Given the description of an element on the screen output the (x, y) to click on. 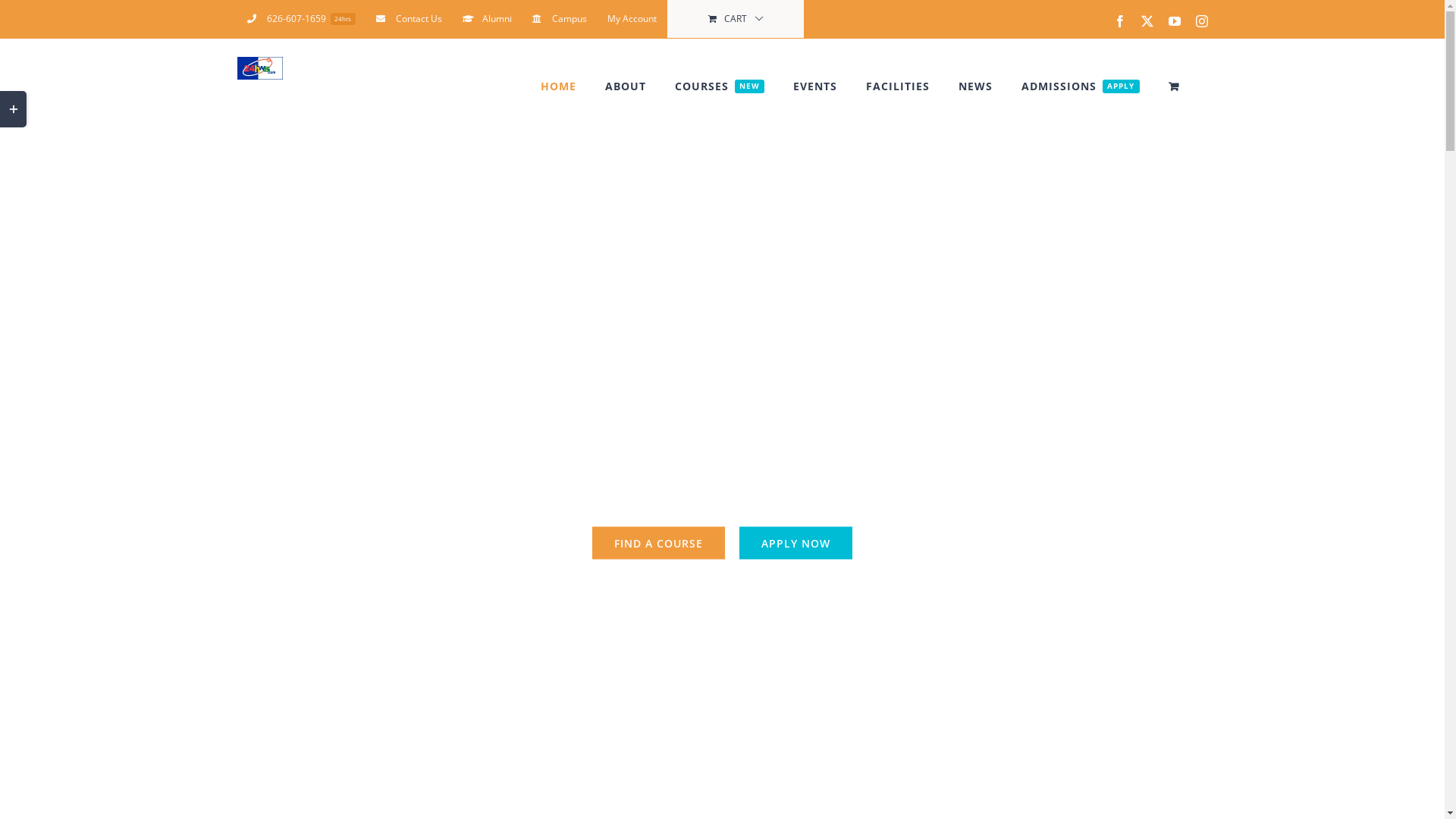
Twitter Element type: text (1147, 21)
YouTube Element type: text (1174, 21)
Instagram Element type: text (1201, 21)
FIND A COURSE Element type: text (658, 542)
APPLY NOW Element type: text (795, 542)
HOME Element type: text (558, 86)
Facebook Element type: text (1119, 21)
Contact Us Element type: text (408, 18)
Campus Element type: text (559, 18)
CART Element type: text (735, 18)
Alumni Element type: text (486, 18)
626-607-1659
24hrs Element type: text (300, 18)
COURSES
NEW Element type: text (719, 86)
ABOUT Element type: text (625, 86)
My Account Element type: text (631, 18)
FACILITIES Element type: text (897, 86)
Toggle Sliding Bar Area Element type: text (13, 109)
Log In Element type: text (685, 177)
ADMISSIONS
APPLY Element type: text (1080, 86)
EVENTS Element type: text (815, 86)
NEWS Element type: text (975, 86)
